Given the description of an element on the screen output the (x, y) to click on. 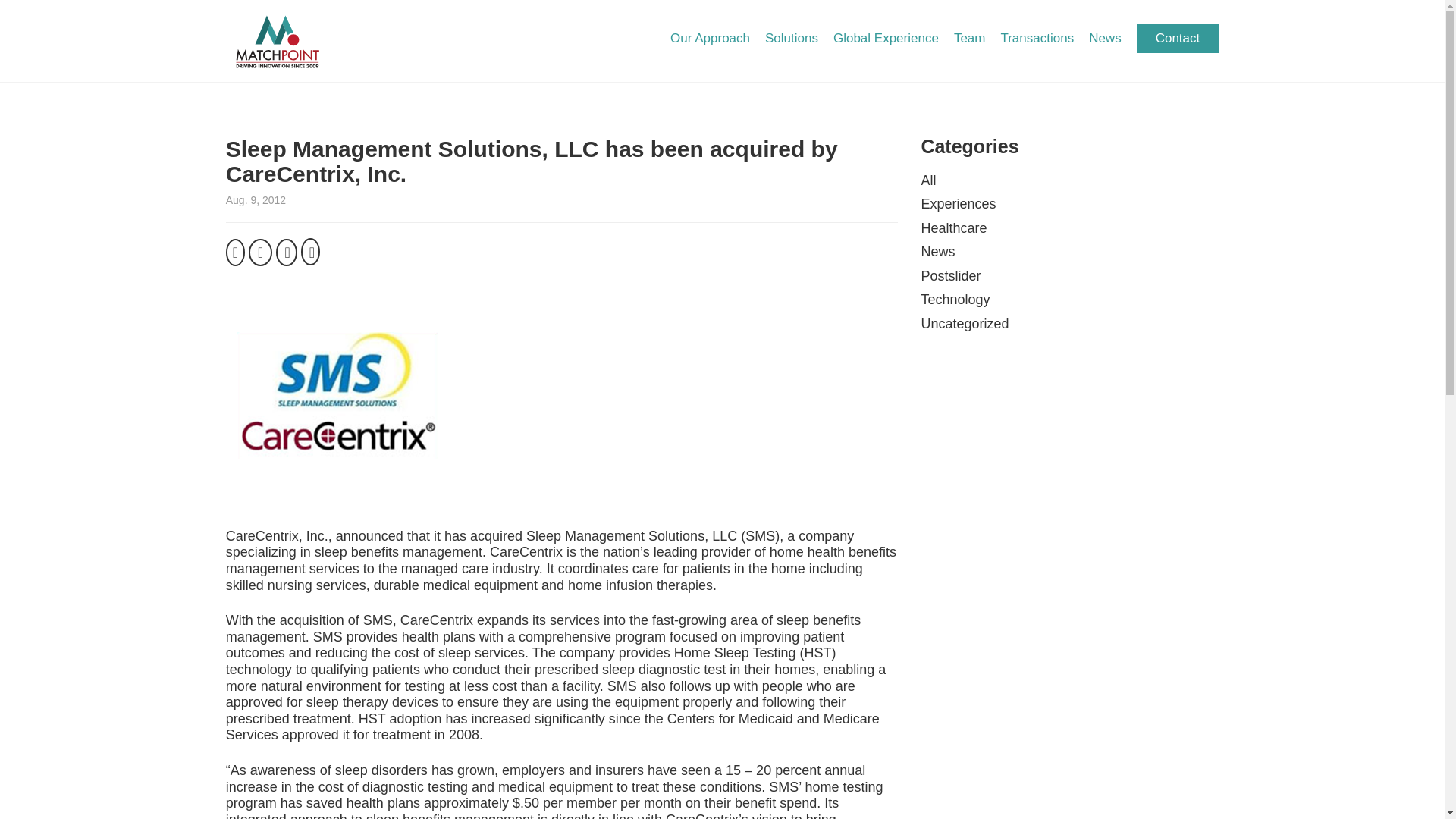
Contact (1178, 38)
Our Approach (709, 40)
Solutions (791, 40)
Technology (955, 299)
Postslider (949, 275)
Transactions (1037, 40)
Experiences (957, 203)
All (928, 180)
Team (969, 40)
News (1105, 40)
